Given the description of an element on the screen output the (x, y) to click on. 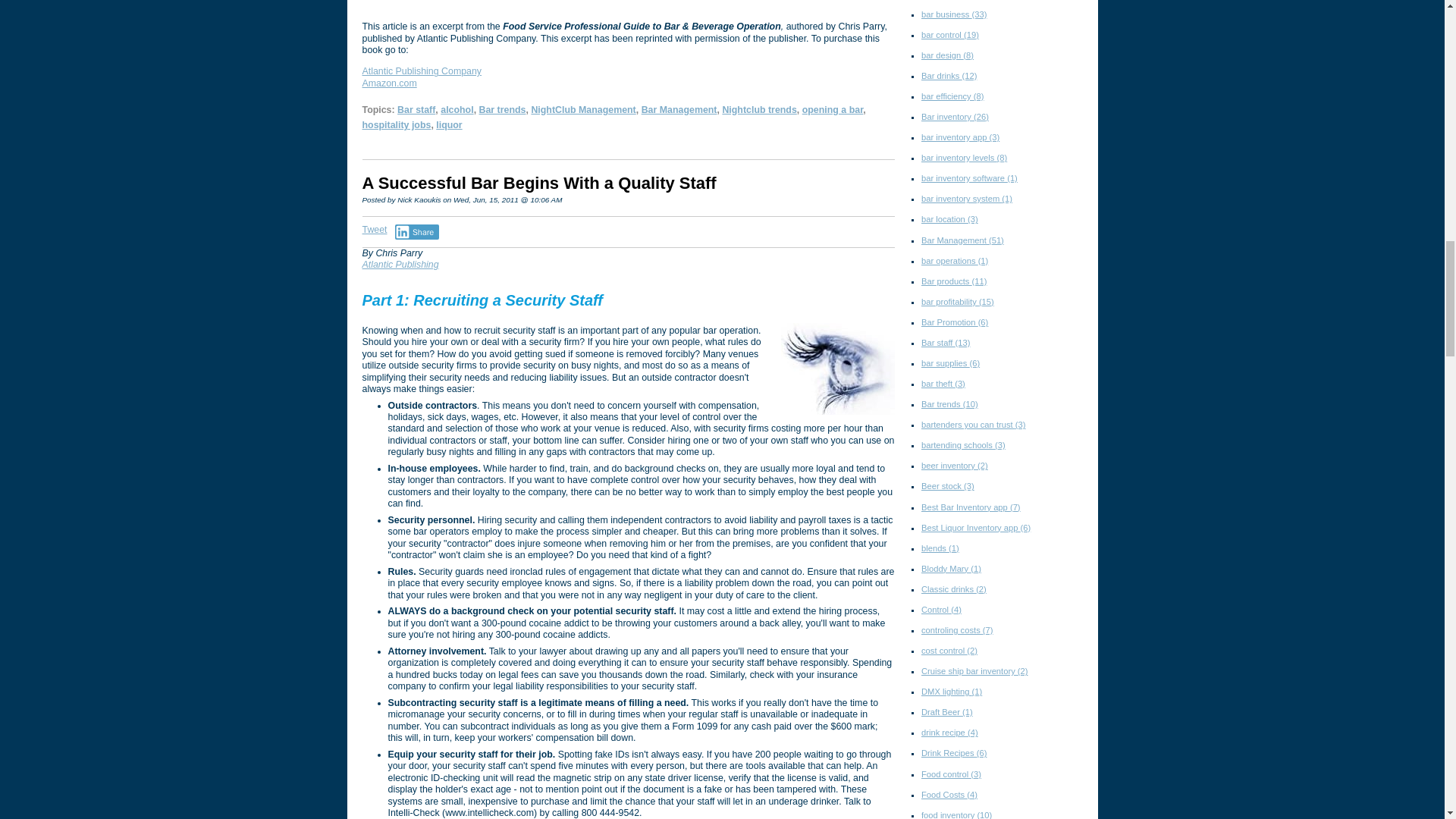
Atlantic Publishing (400, 264)
Amazon.com (389, 82)
Atlantic Publishing Company (421, 71)
